Given the description of an element on the screen output the (x, y) to click on. 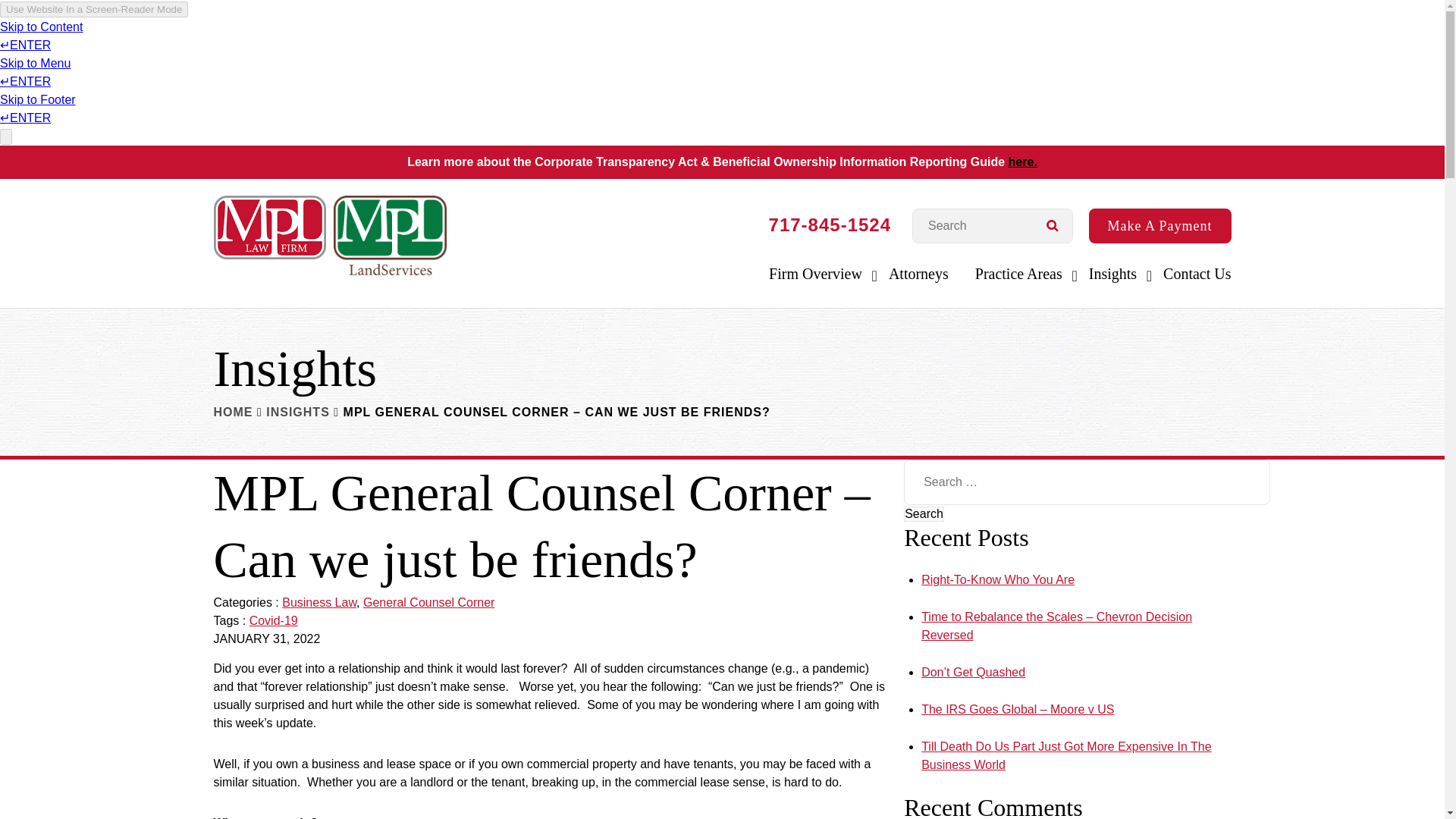
Search for: (992, 225)
Search (923, 513)
Search (923, 513)
here. (1022, 161)
Attorneys (918, 280)
717-845-1524 (829, 224)
Make A Payment (1160, 225)
Firm Overview (814, 280)
Practice Areas (1018, 280)
